Given the description of an element on the screen output the (x, y) to click on. 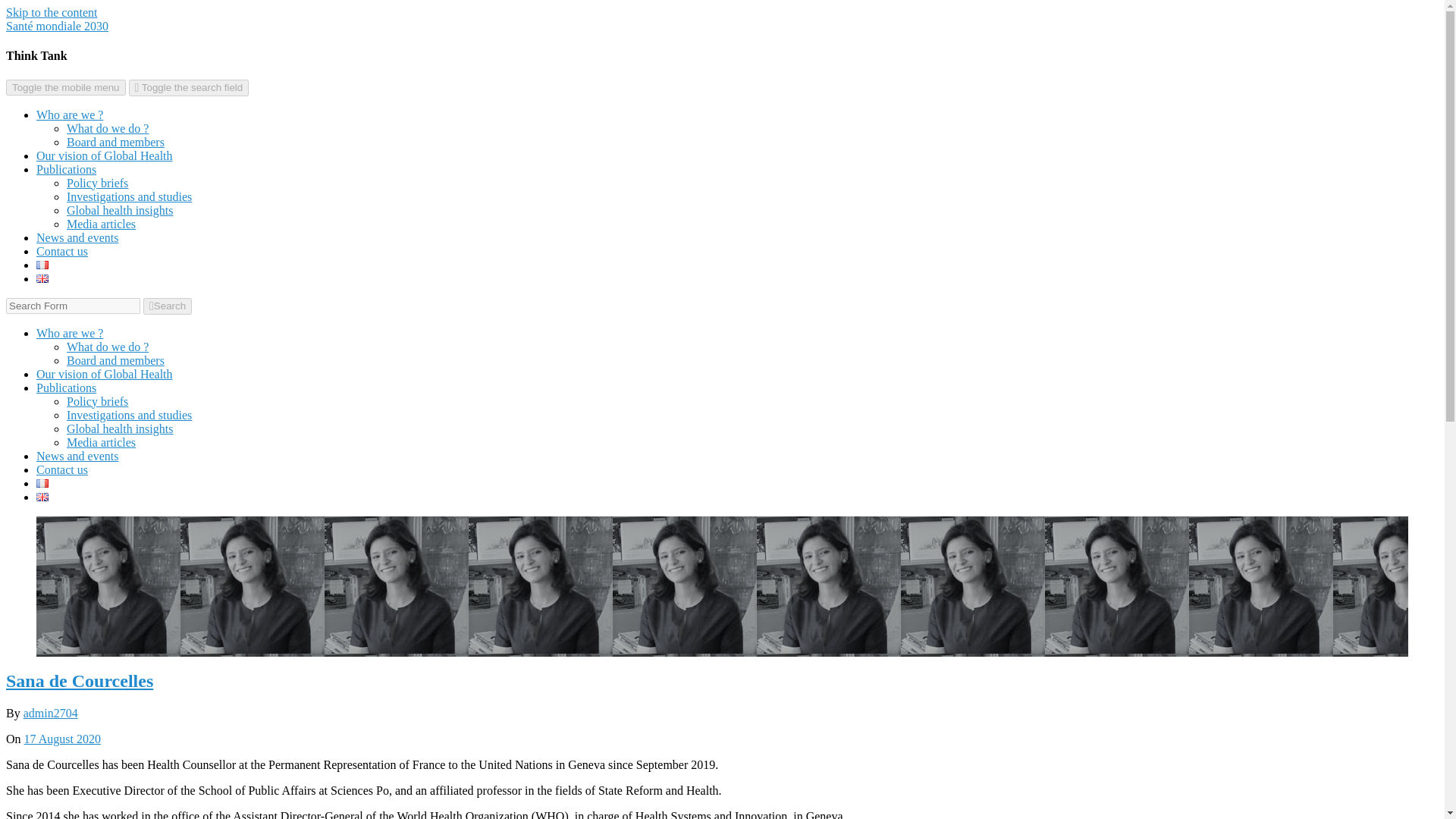
Our vision of Global Health (104, 373)
admin2704 (50, 712)
News and events (76, 455)
Media articles (100, 441)
Our vision of Global Health (104, 155)
Publications (66, 387)
Policy briefs (97, 400)
Search (167, 306)
News and events (76, 237)
Investigations and studies (129, 196)
English (42, 497)
Media articles (100, 223)
Global health insights (119, 428)
Policy briefs (97, 182)
17 August 2020 (62, 738)
